Given the description of an element on the screen output the (x, y) to click on. 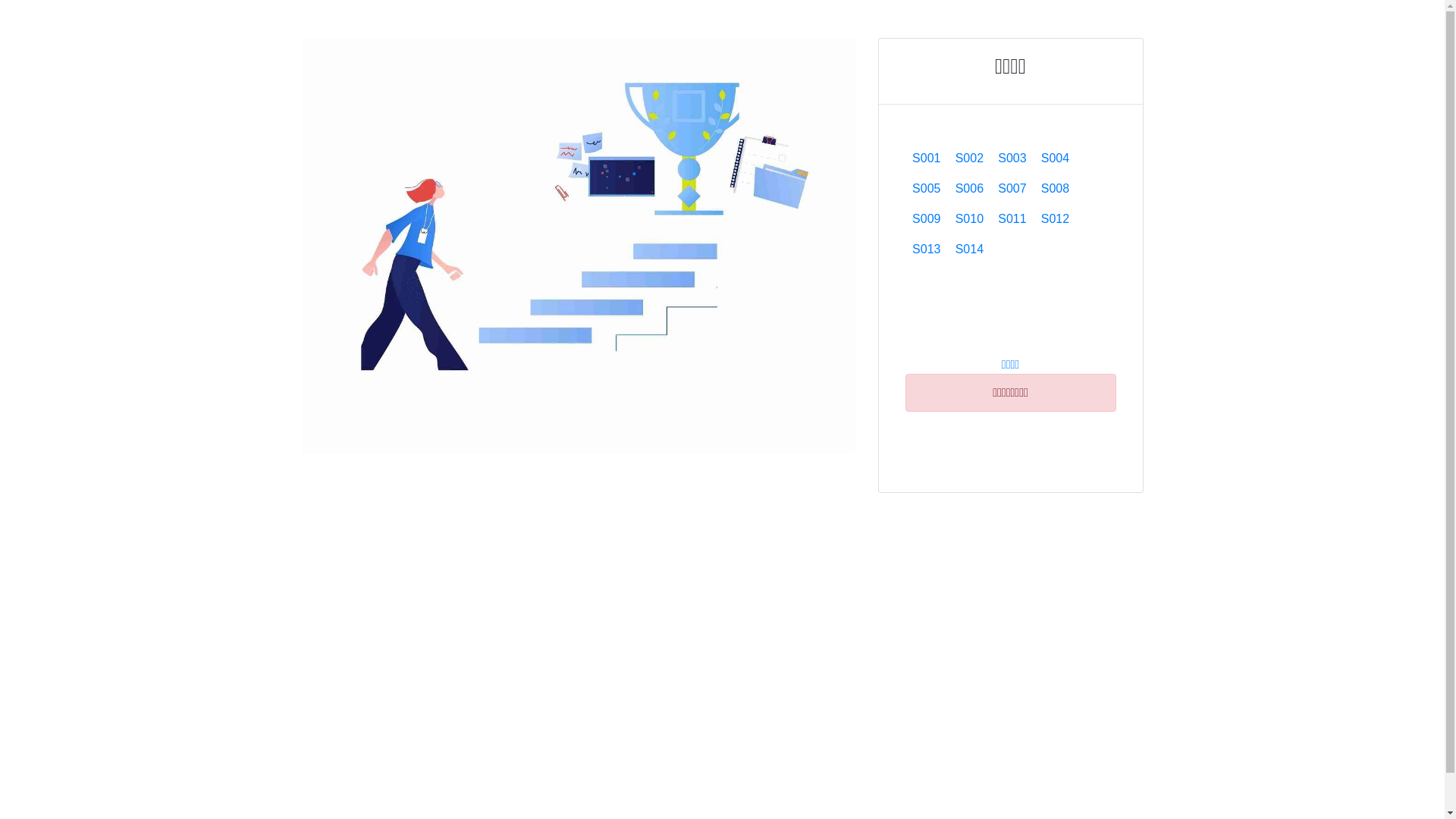
S011 Element type: text (1012, 218)
S001 Element type: text (926, 158)
S014 Element type: text (969, 249)
S005 Element type: text (926, 188)
S007 Element type: text (1012, 188)
S010 Element type: text (969, 218)
S009 Element type: text (926, 218)
S013 Element type: text (926, 249)
S006 Element type: text (969, 188)
S008 Element type: text (1054, 188)
S003 Element type: text (1012, 158)
S002 Element type: text (969, 158)
S004 Element type: text (1054, 158)
S012 Element type: text (1054, 218)
